Given the description of an element on the screen output the (x, y) to click on. 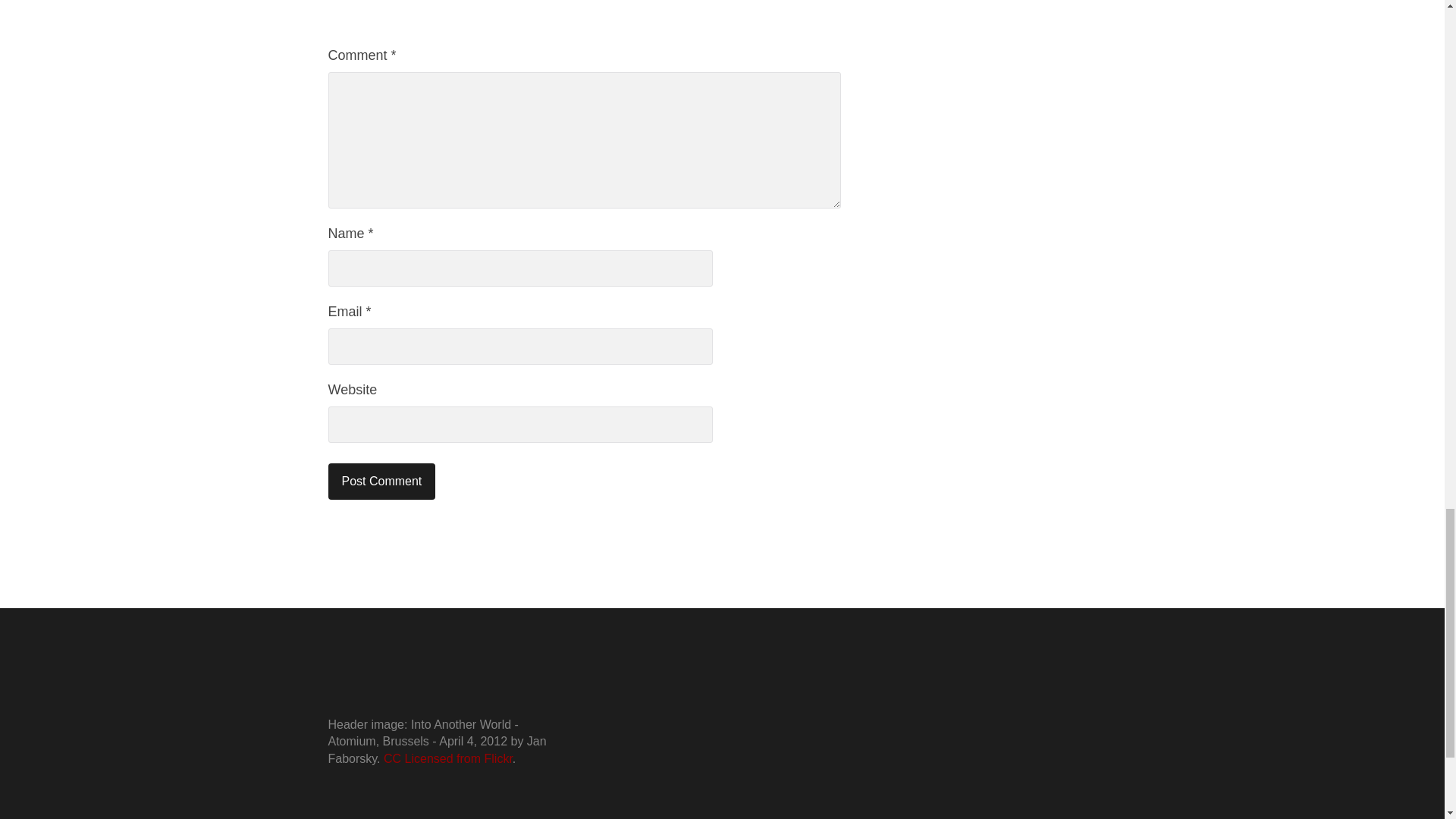
Post Comment (381, 481)
Post Comment (381, 481)
CC Licensed from Flickr (448, 758)
